Given the description of an element on the screen output the (x, y) to click on. 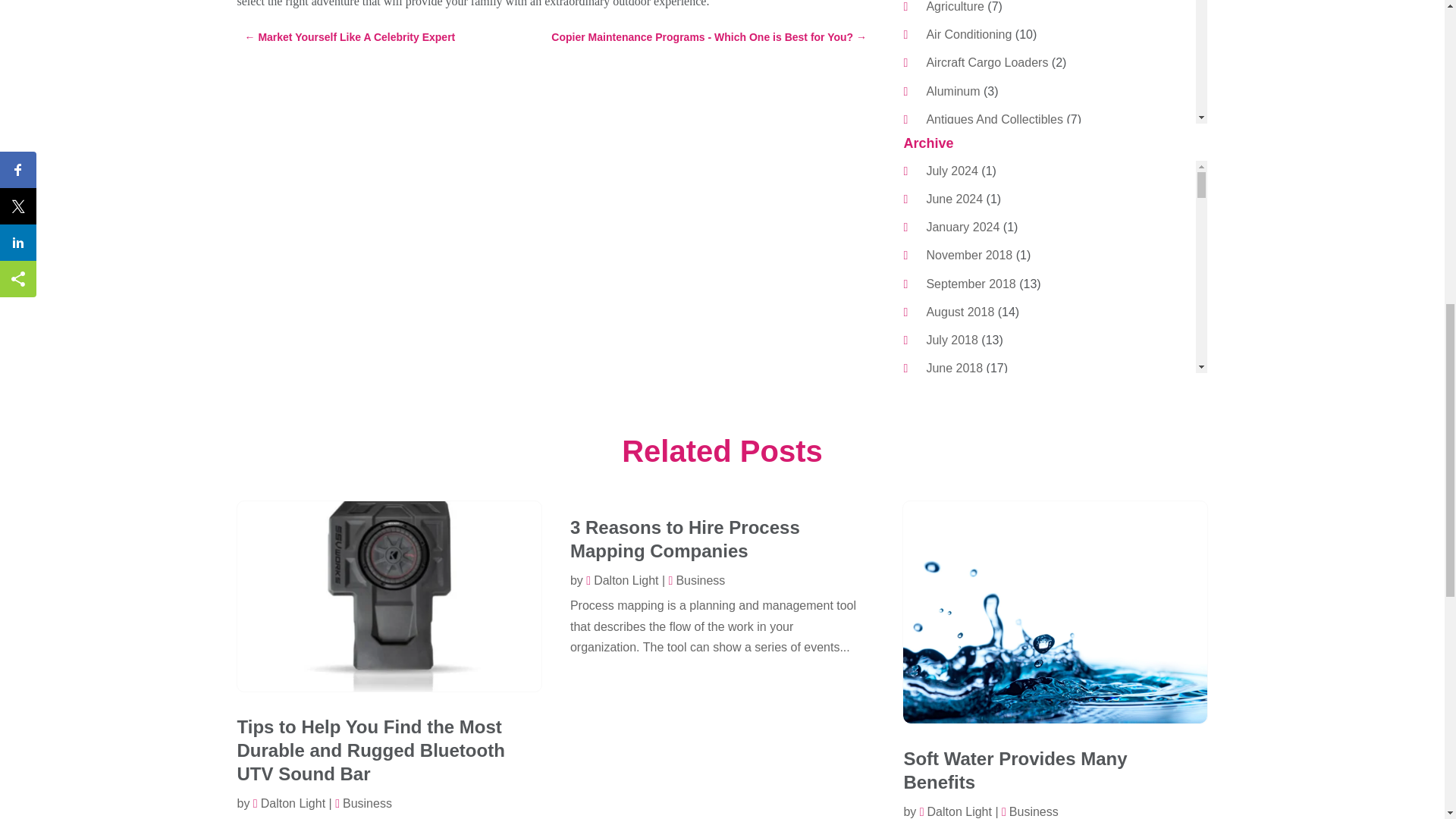
Attorney (948, 203)
Air Conditioning (968, 33)
Arborist Supplies (971, 146)
Agriculture (955, 6)
Arts And Entertainment (988, 174)
Aircraft Cargo Loaders (987, 62)
Posts by Dalton Light (622, 580)
Antiques And Collectibles (994, 119)
Posts by Dalton Light (955, 811)
Posts by Dalton Light (288, 802)
Aluminum (952, 91)
Auto Body Shop (969, 232)
